Given the description of an element on the screen output the (x, y) to click on. 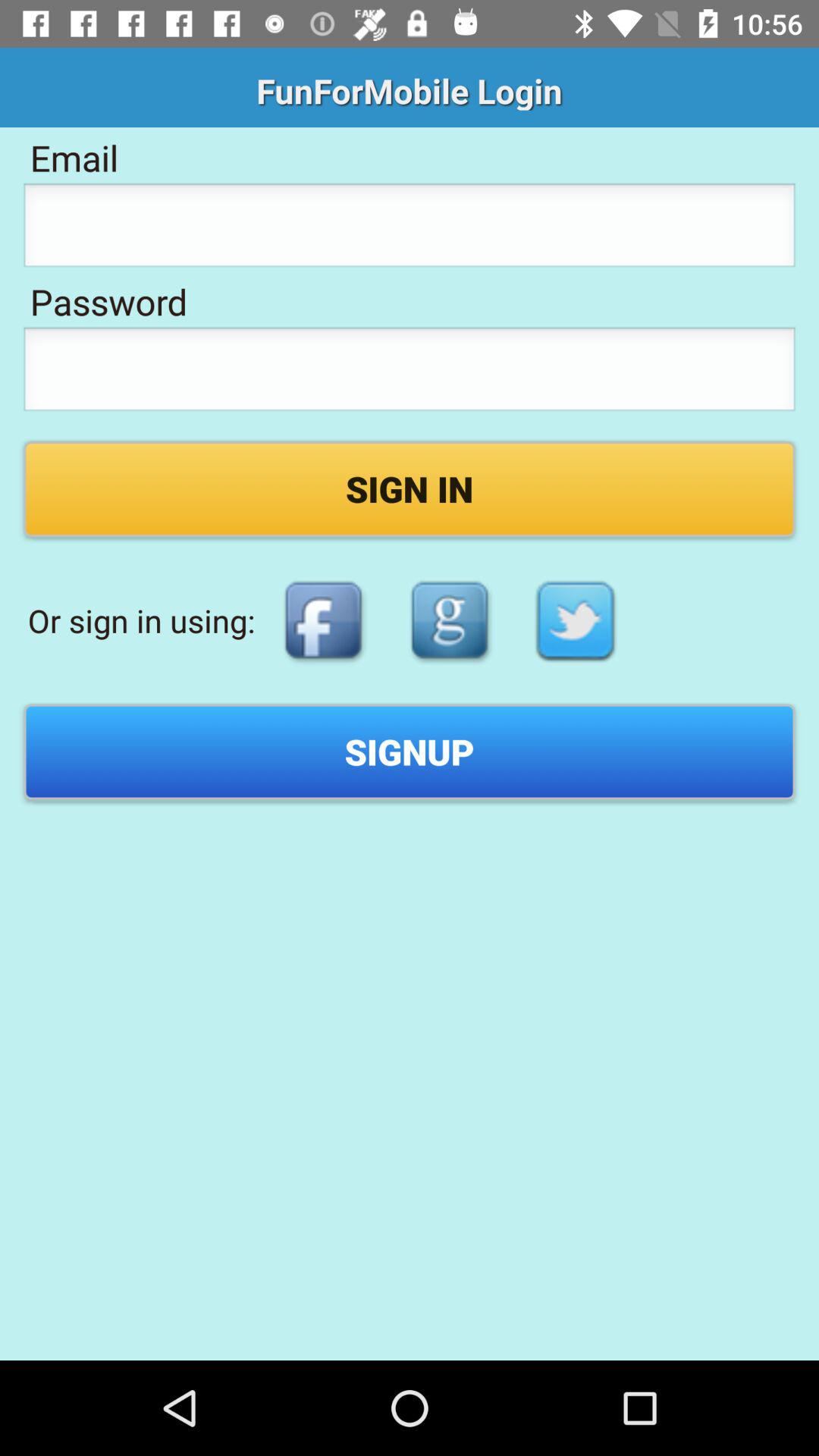
type a password (409, 373)
